Given the description of an element on the screen output the (x, y) to click on. 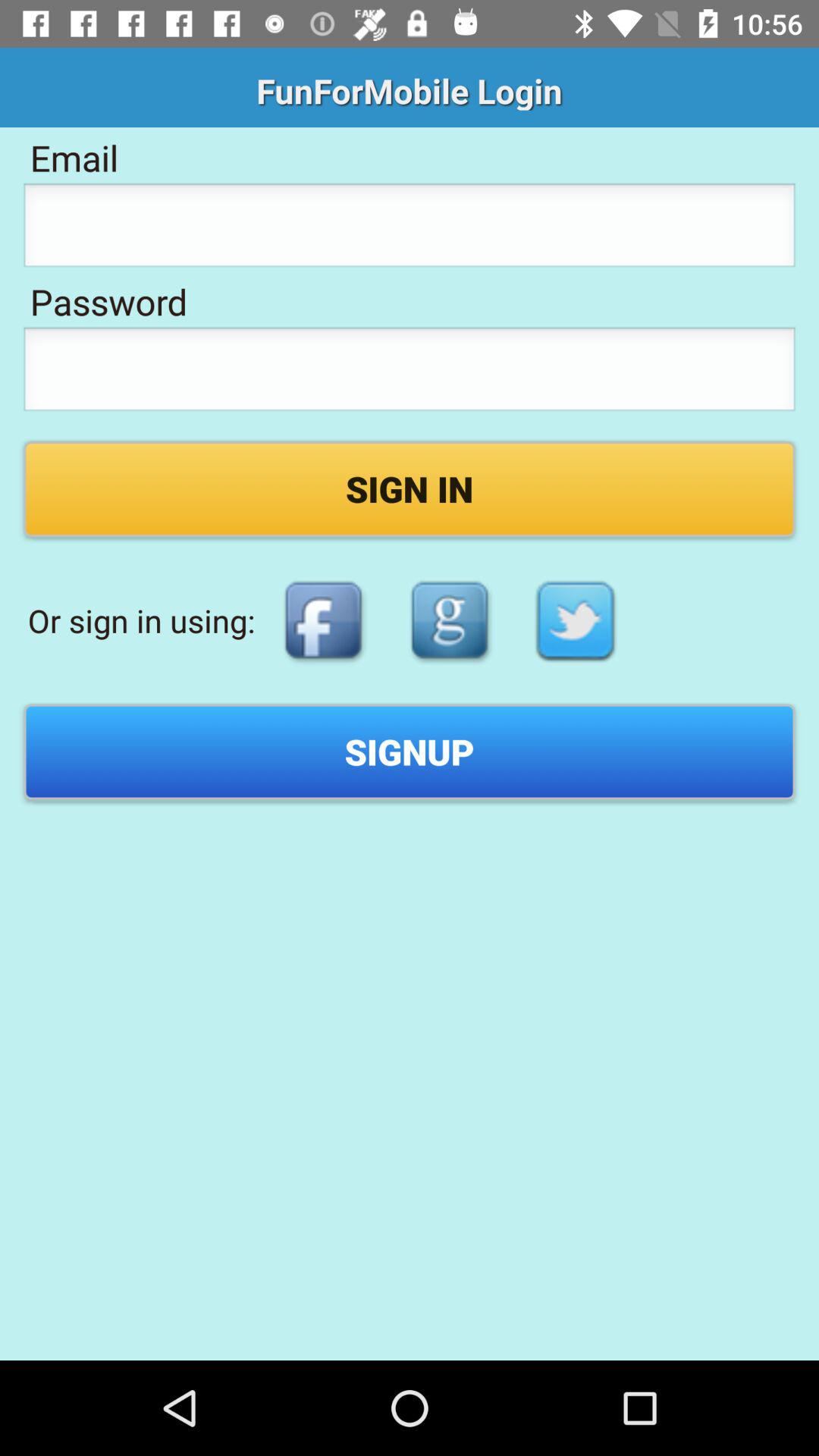
type a password (409, 373)
